Given the description of an element on the screen output the (x, y) to click on. 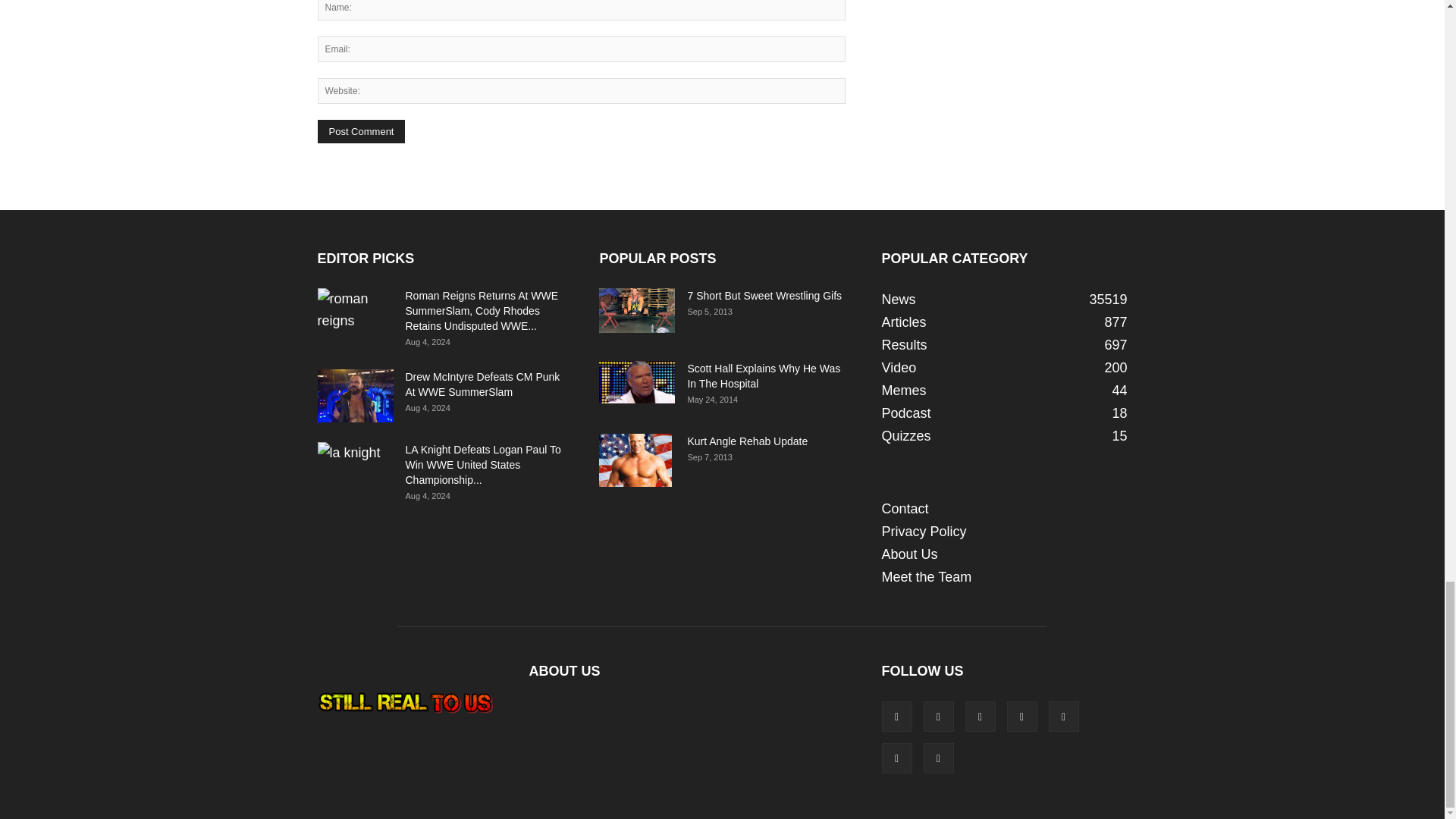
Post Comment (360, 131)
